Given the description of an element on the screen output the (x, y) to click on. 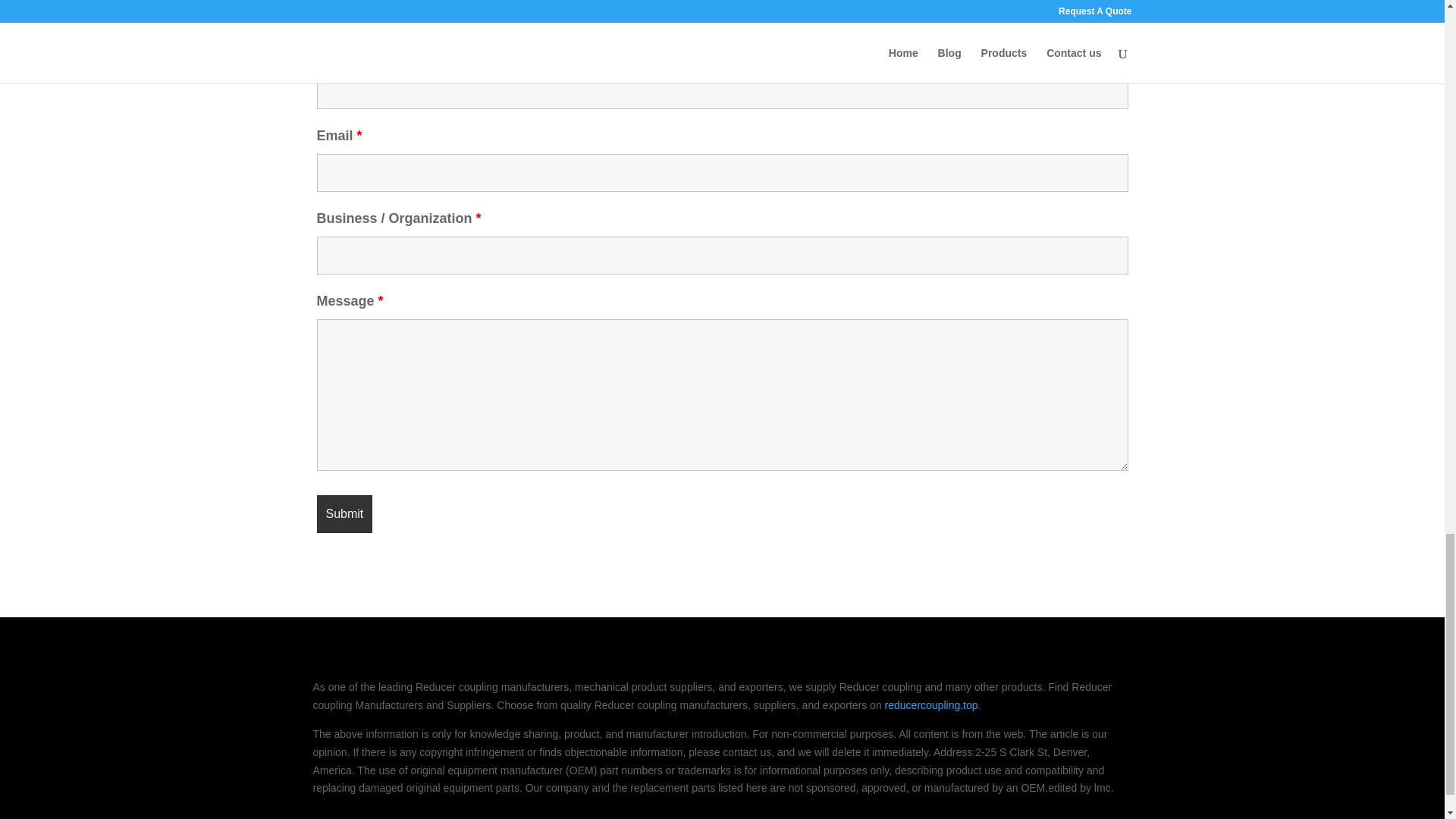
Submit (344, 514)
Submit (344, 514)
reducercoupling.top (931, 705)
